Given the description of an element on the screen output the (x, y) to click on. 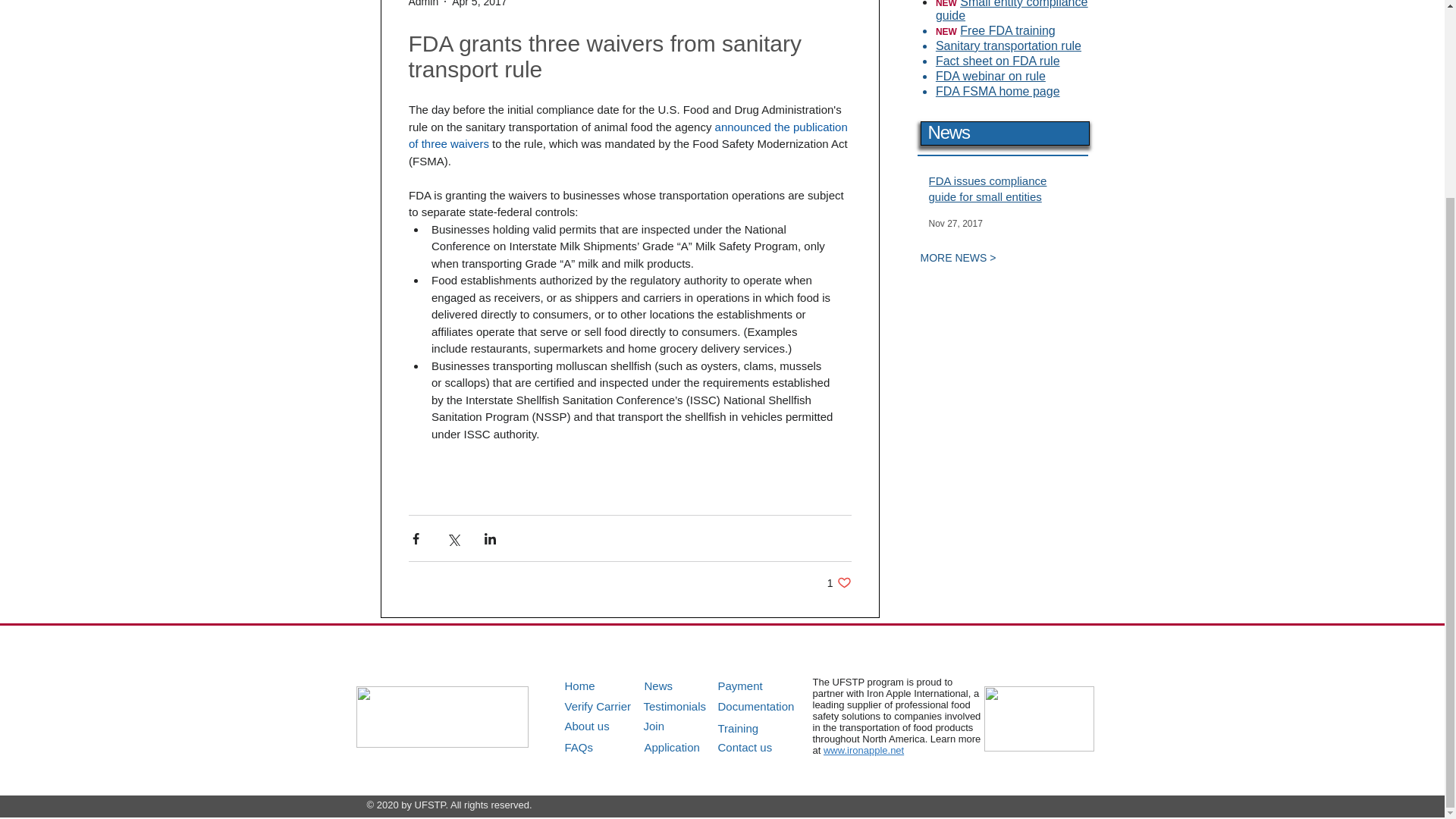
Sanitary transportation rule (1008, 45)
FDA FSMA home page (997, 91)
Small entity compliance guide (1011, 11)
About us (839, 582)
Testimonials (606, 725)
announced the publication of three waivers (686, 705)
Fact sheet on FDA rule (628, 135)
Apr 5, 2017 (997, 60)
News (478, 3)
Payment (687, 685)
Admin (761, 685)
Home (422, 4)
FAQs (606, 685)
Documentation (606, 746)
